Given the description of an element on the screen output the (x, y) to click on. 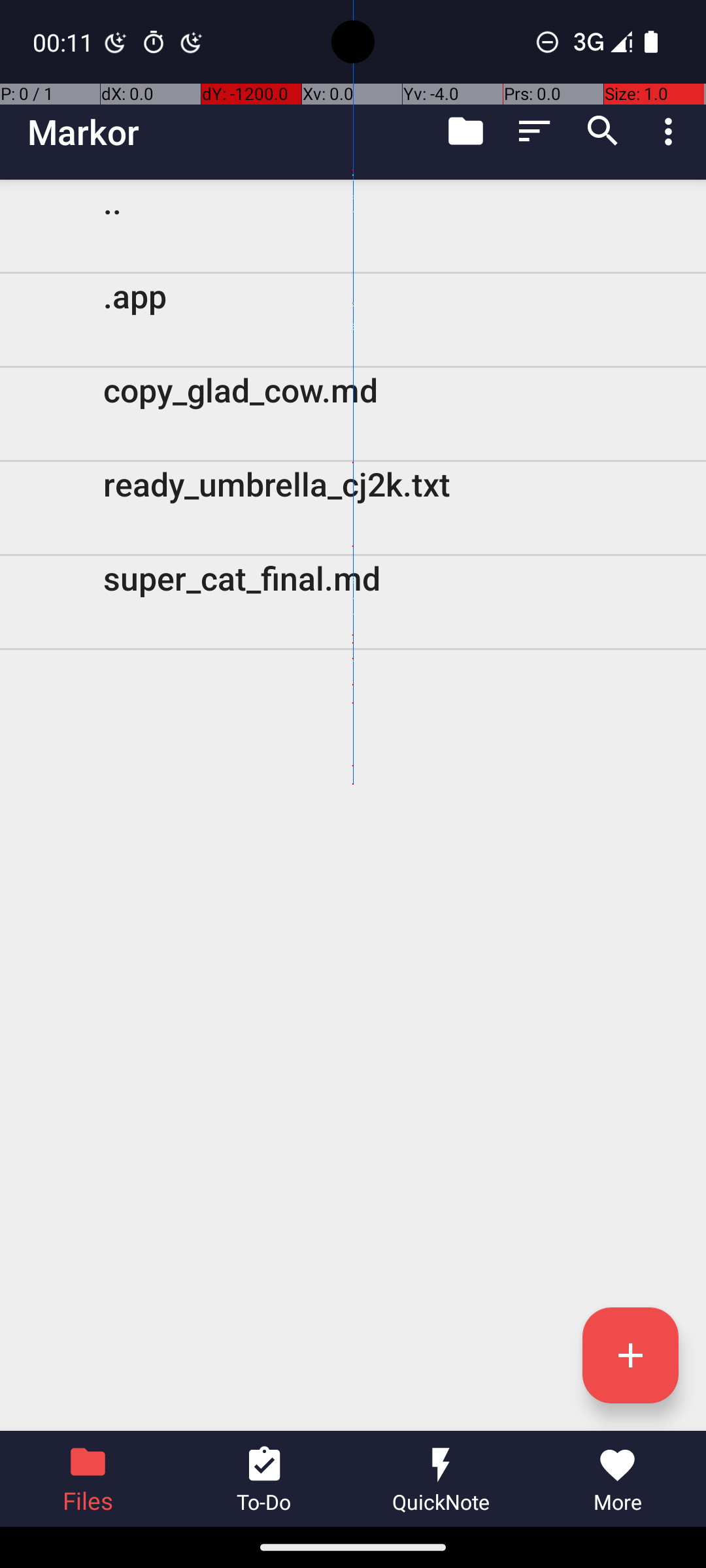
00:11 Element type: android.widget.TextView (64, 41)
Digital Wellbeing notification: Bedtime mode is on Element type: android.widget.ImageView (115, 41)
Digital Wellbeing notification: Do Not Disturb for Bedtime mode Element type: android.widget.ImageView (191, 41)
